Given the description of an element on the screen output the (x, y) to click on. 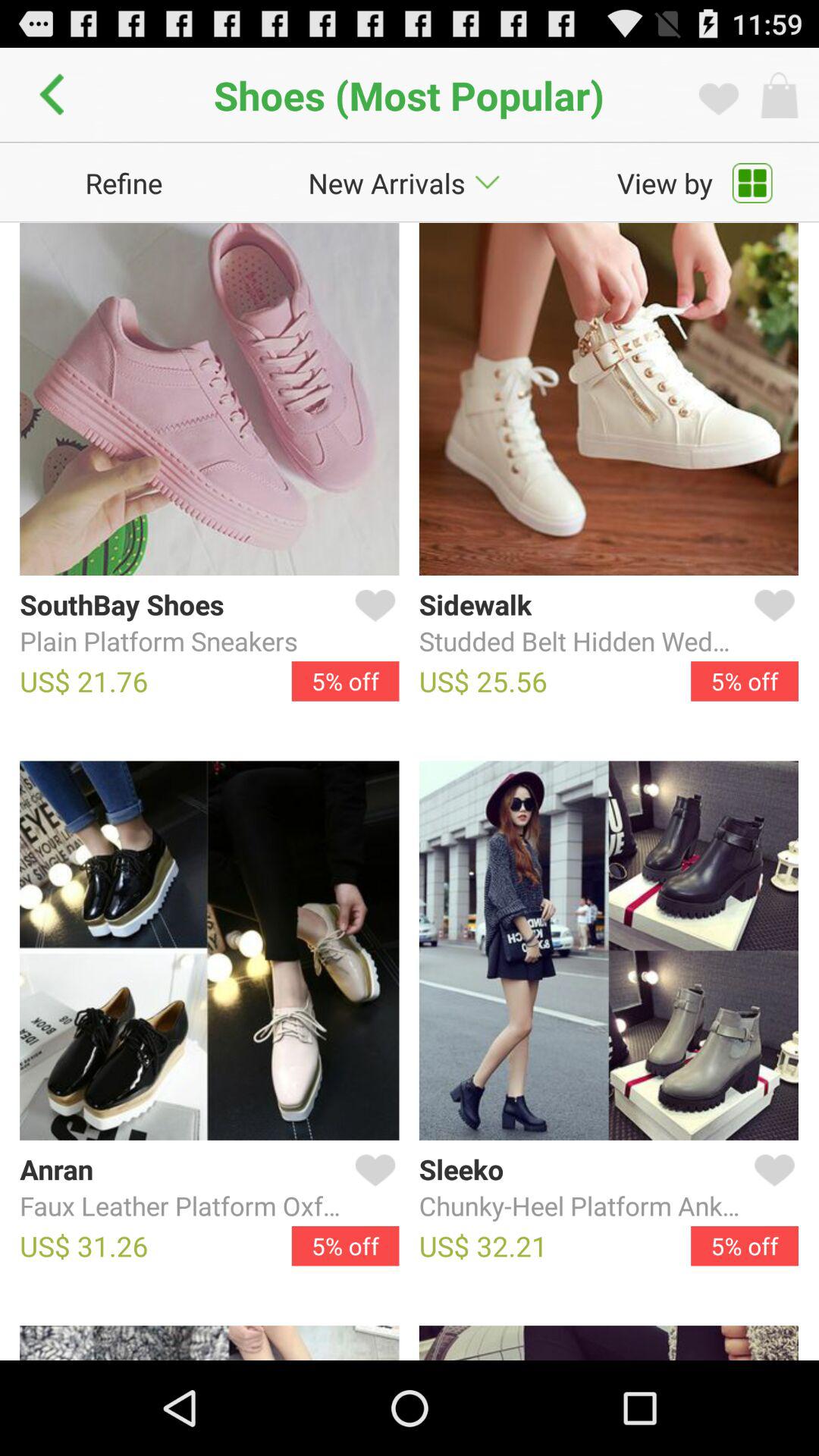
click on the heart symbol to the right of anran text (371, 1187)
select favourite icon which is after southbay shoes on the page (371, 623)
select the icon right to text new arrivals (487, 182)
